Given the description of an element on the screen output the (x, y) to click on. 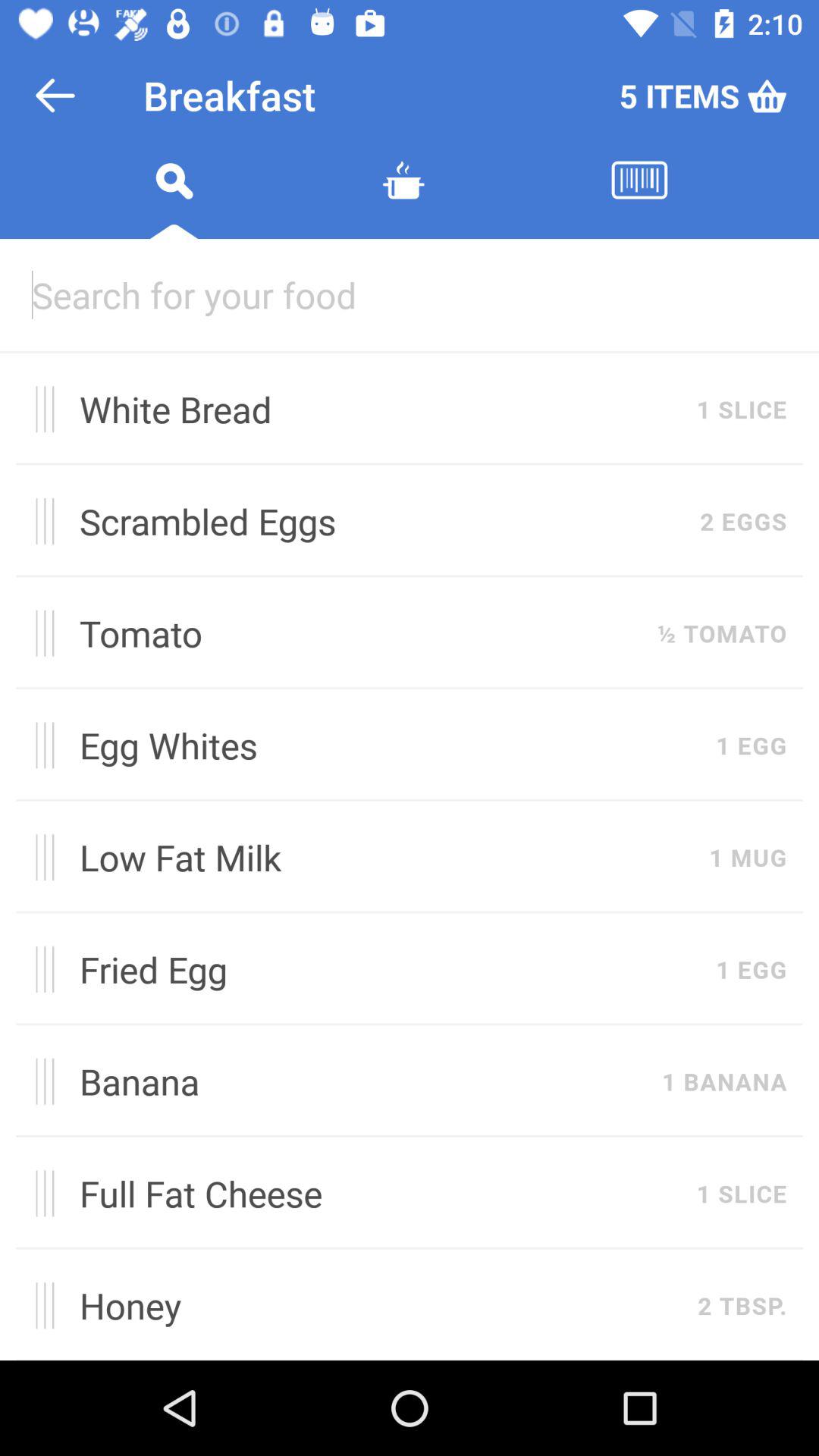
turn off 1 banana (724, 1081)
